Given the description of an element on the screen output the (x, y) to click on. 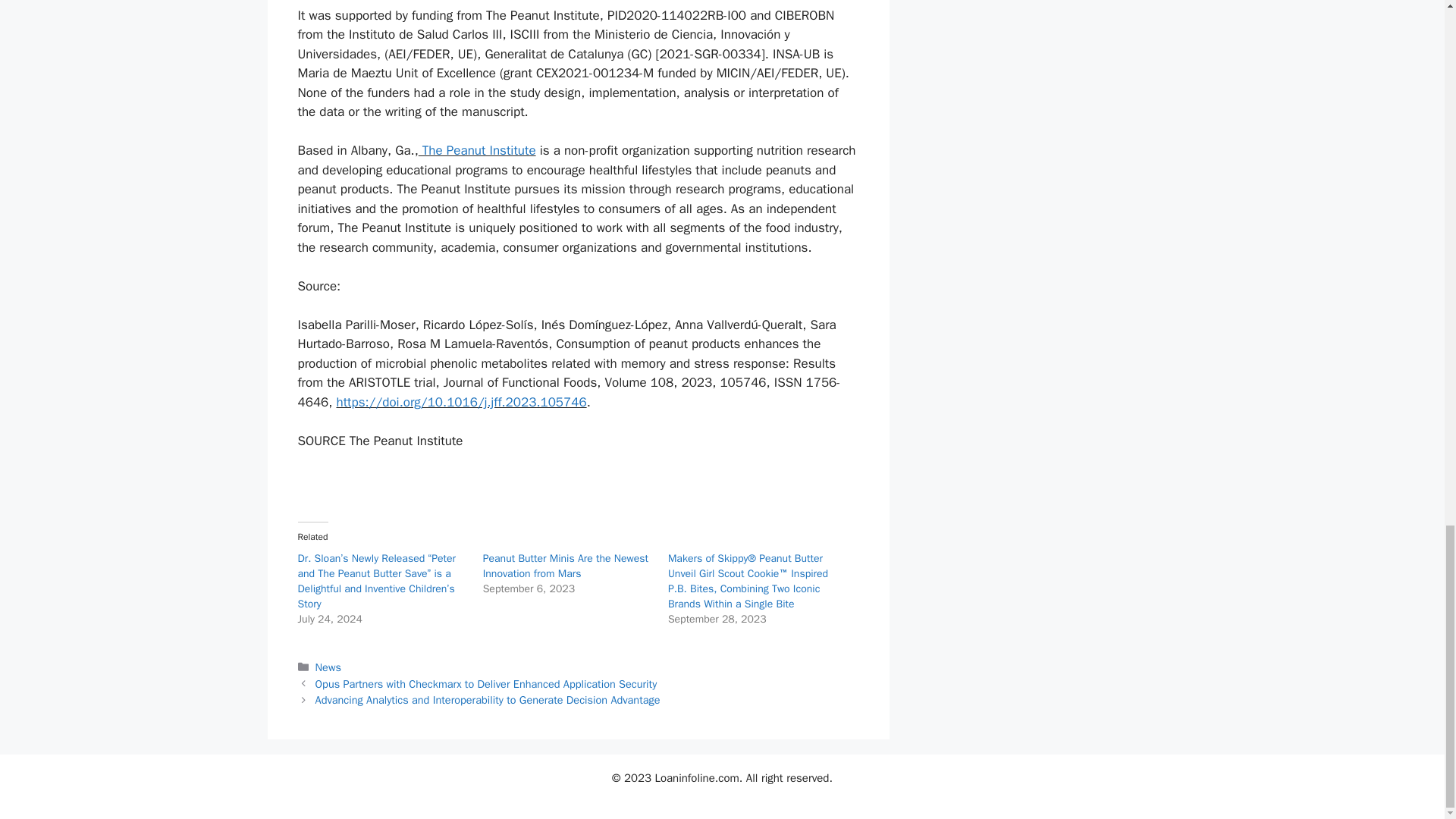
Peanut Butter Minis Are the Newest Innovation from Mars (565, 565)
News (327, 667)
 The Peanut Institute (477, 150)
Scroll back to top (1406, 45)
Peanut Butter Minis Are the Newest Innovation from Mars (565, 565)
